Given the description of an element on the screen output the (x, y) to click on. 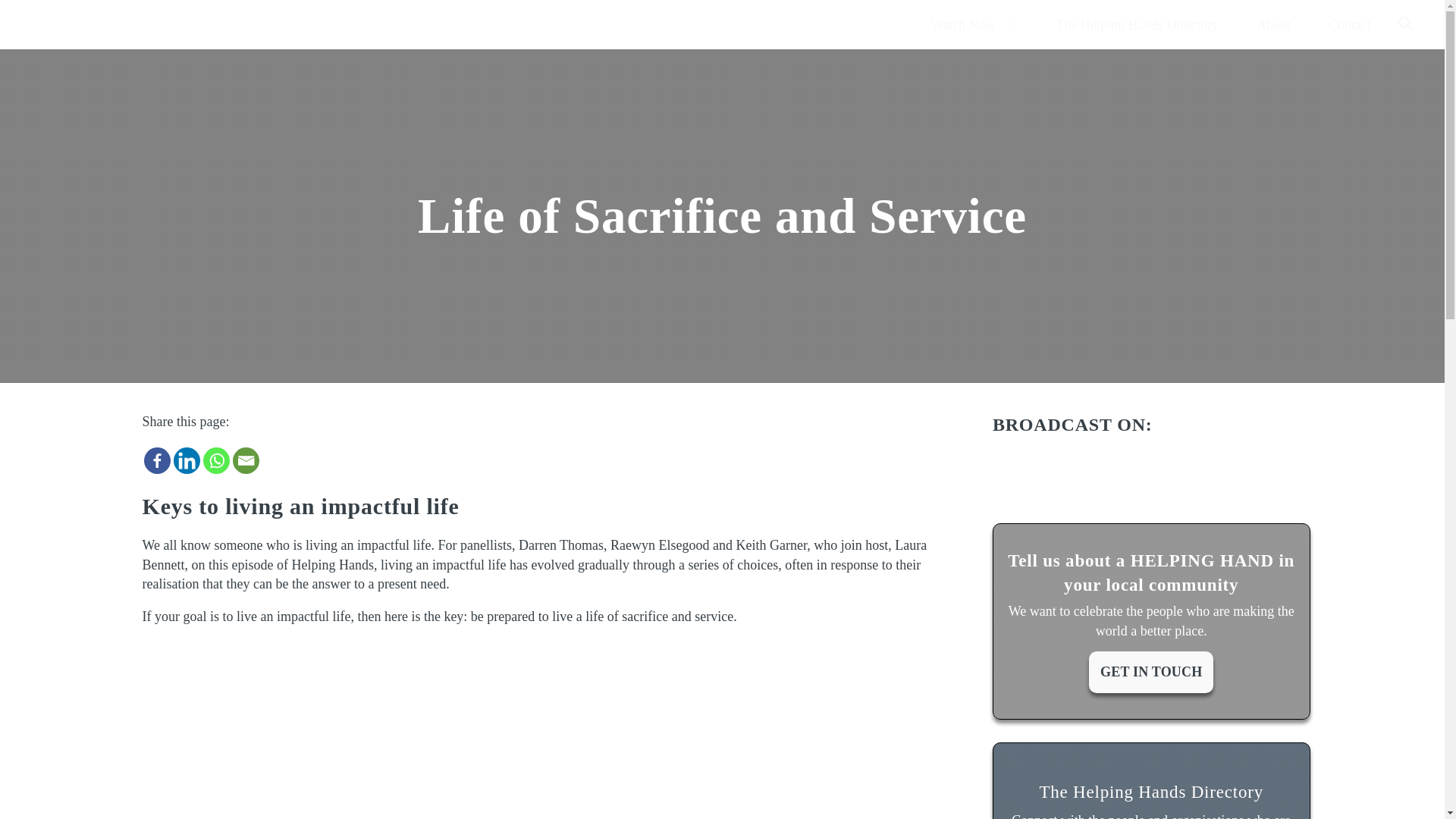
The Helping Hands Directory (1137, 25)
Watch Now (974, 25)
Facebook (157, 460)
Linkedin (186, 460)
helping hands (93, 24)
Contact (1349, 25)
Email (245, 460)
GET IN TOUCH (1150, 671)
Whatsapp (216, 460)
About (1272, 25)
